Given the description of an element on the screen output the (x, y) to click on. 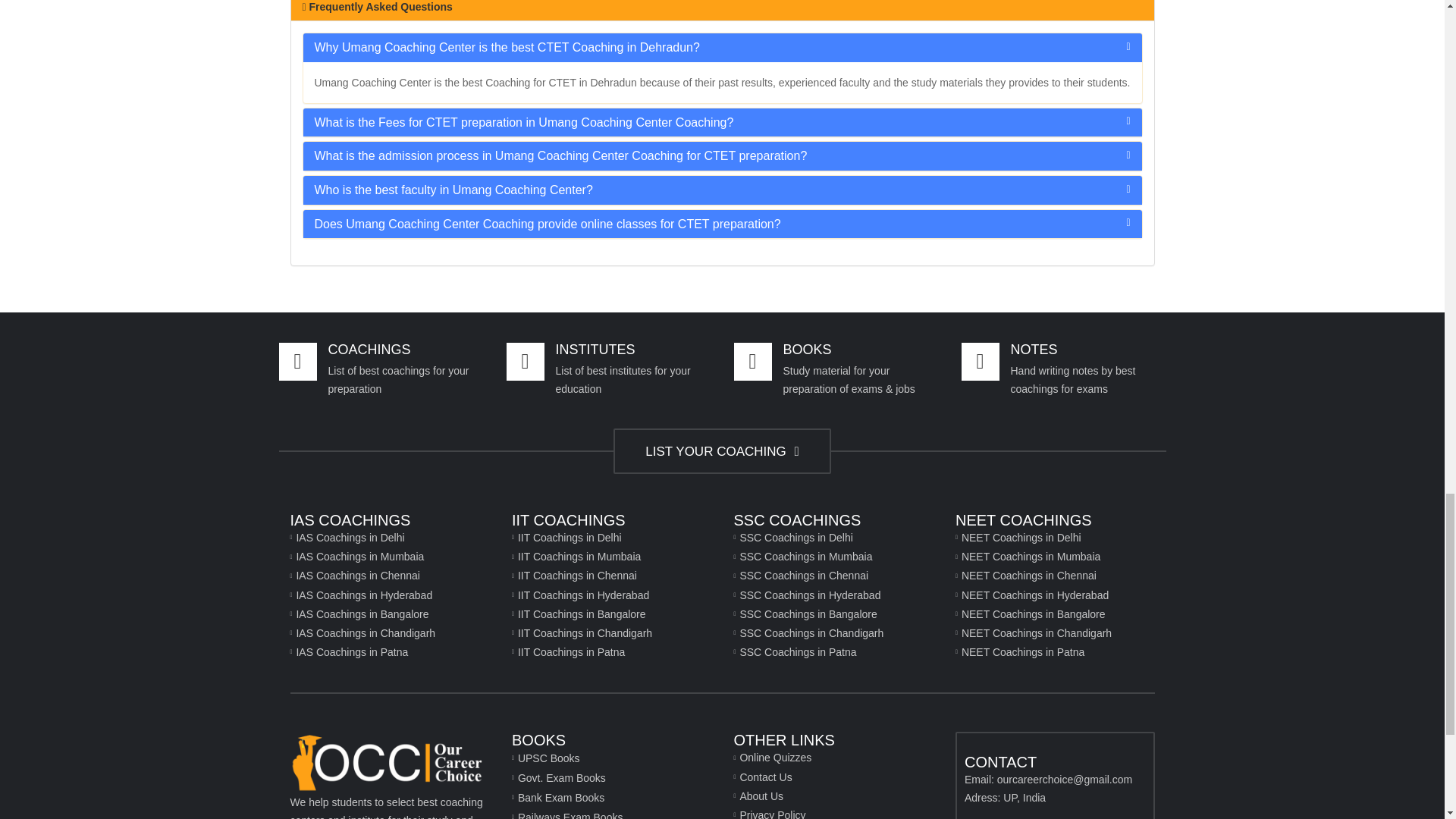
IAS Coachings in Chennai (389, 575)
IAS Coachings in Mumbaia (389, 556)
IAS Coachings in Delhi (389, 537)
LIST YOUR COACHING (720, 451)
LIST YOUR COACHING (720, 451)
